Given the description of an element on the screen output the (x, y) to click on. 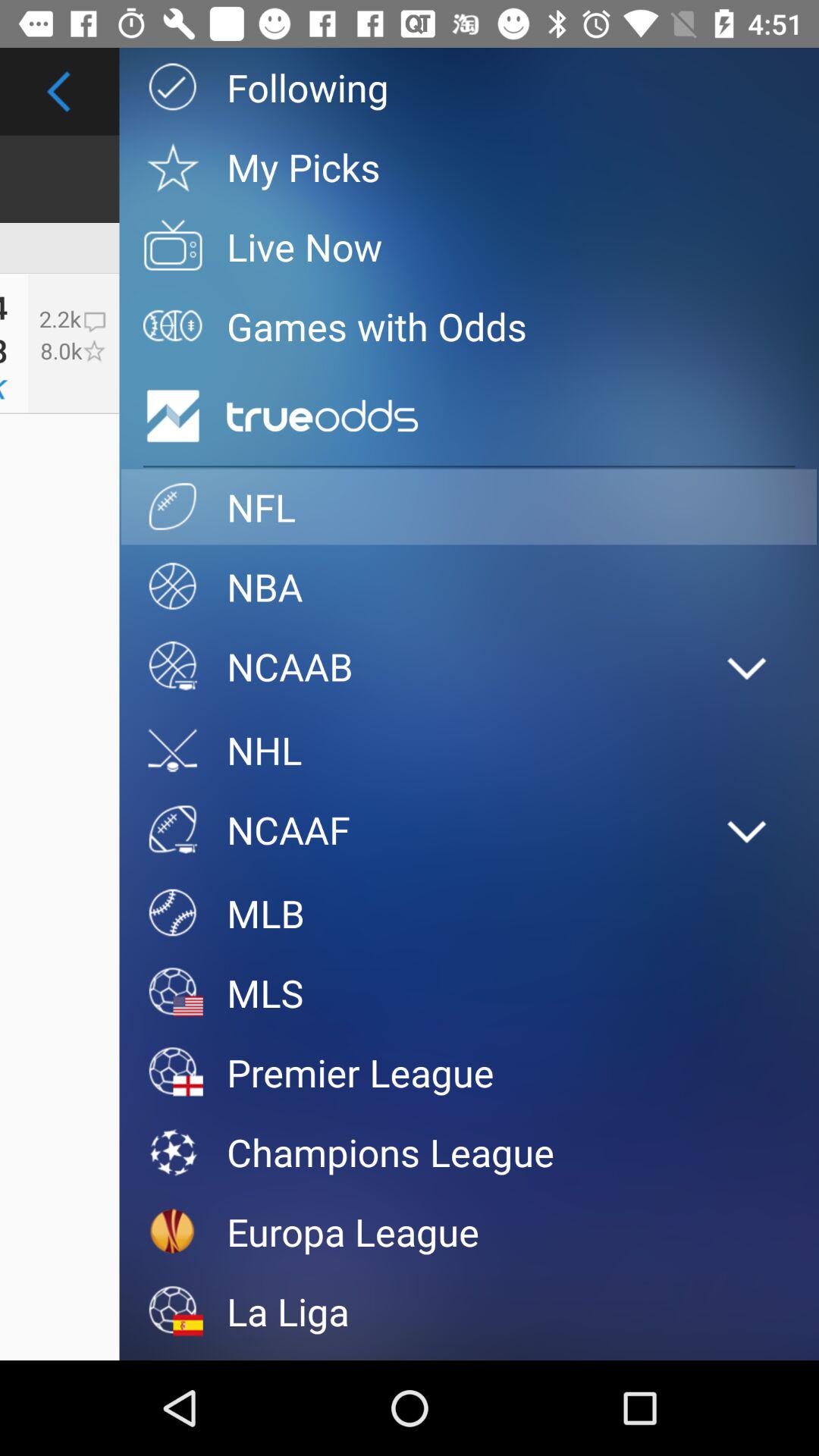
scroll to the ncaaf (409, 829)
